Given the description of an element on the screen output the (x, y) to click on. 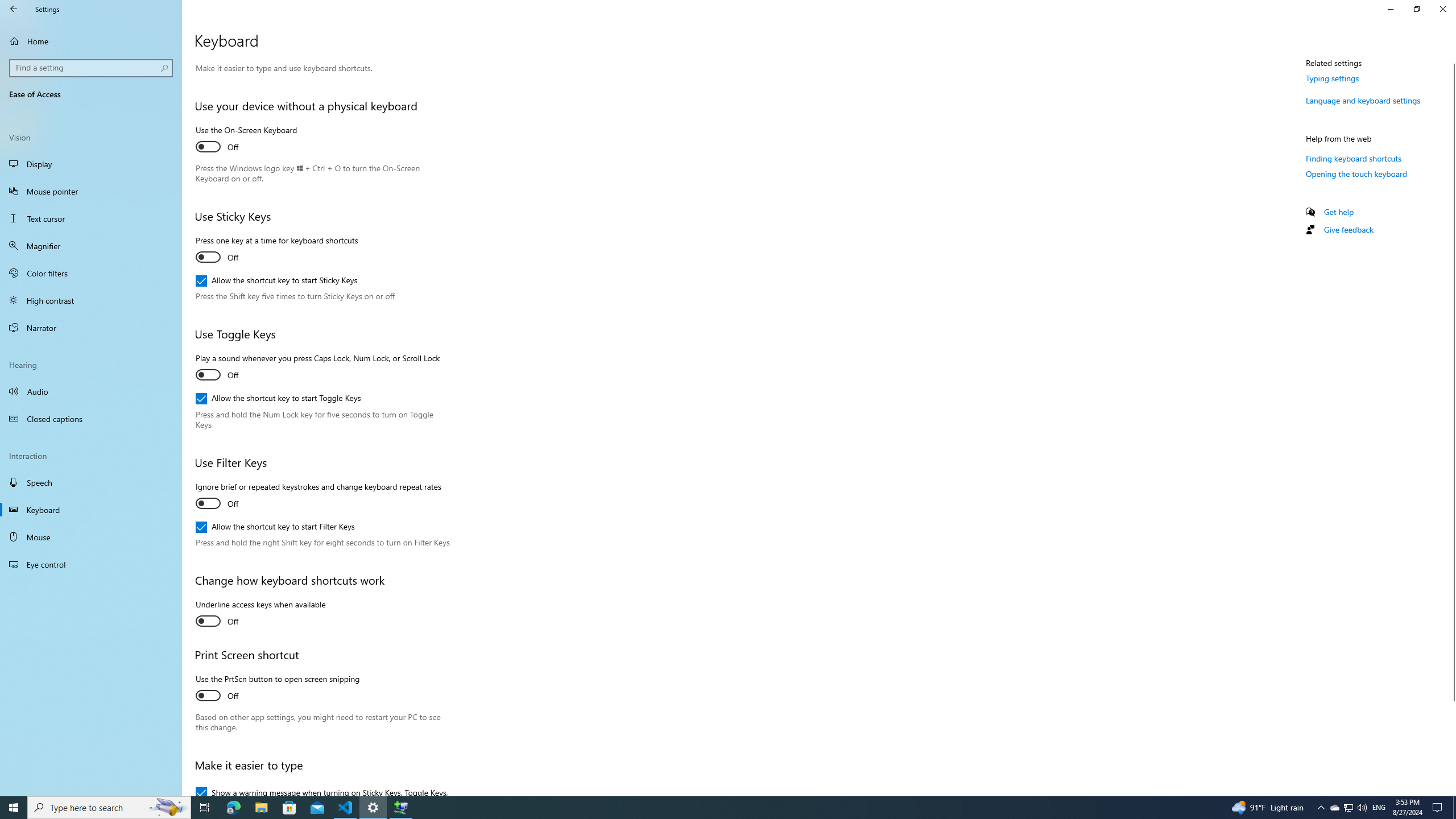
Task View (204, 807)
Use the On-Screen Keyboard (246, 139)
Narrator (91, 327)
Allow the shortcut key to start Sticky Keys (276, 280)
Q2790: 100% (1361, 807)
Underline access keys when available (260, 613)
Action Center, No new notifications (1439, 807)
Running applications (706, 807)
Search box, Find a setting (91, 67)
Vertical (1451, 425)
Microsoft Edge (233, 807)
Vertical Small Decrease (1451, 58)
Settings - 1 running window (373, 807)
Speech (91, 482)
Close Settings (1442, 9)
